Given the description of an element on the screen output the (x, y) to click on. 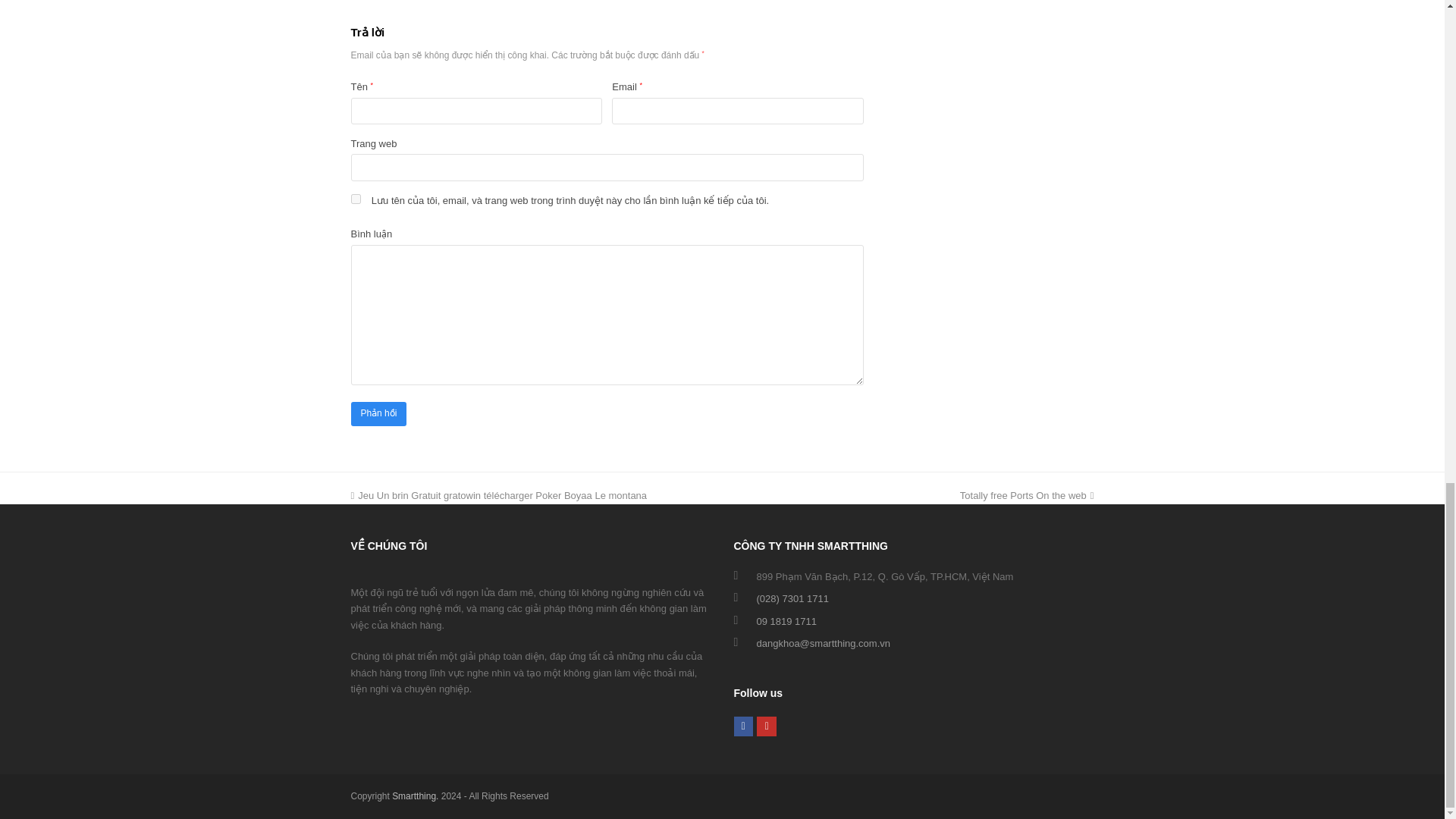
Facebook (743, 726)
Youtube (766, 726)
yes (354, 198)
